Given the description of an element on the screen output the (x, y) to click on. 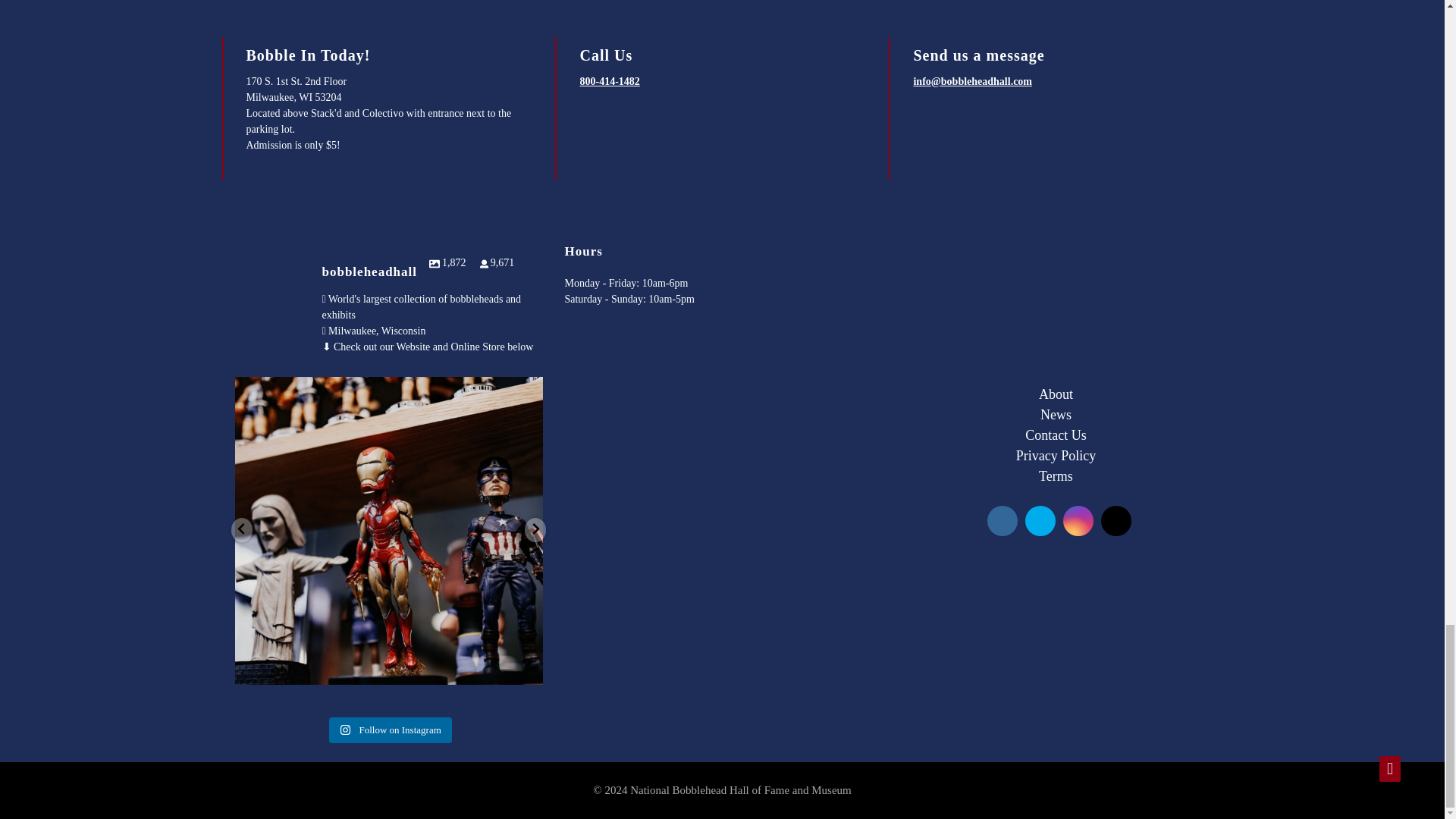
Twitter (1040, 520)
Tiktok (1116, 520)
Instagram (1078, 520)
Facebook (1002, 520)
